Given the description of an element on the screen output the (x, y) to click on. 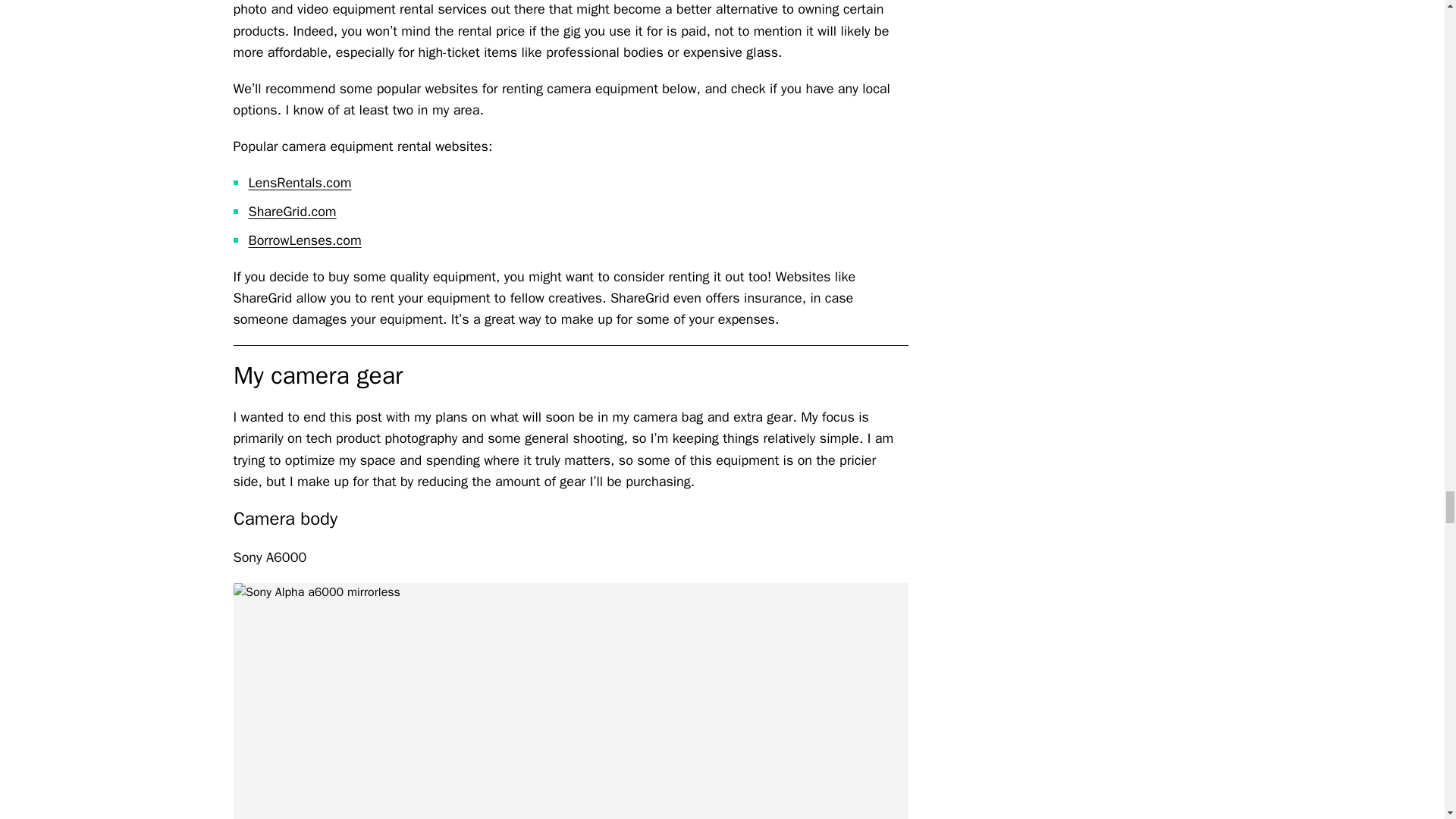
LensRentals.com (300, 182)
ShareGrid.com (292, 211)
BorrowLenses.com (304, 239)
